Given the description of an element on the screen output the (x, y) to click on. 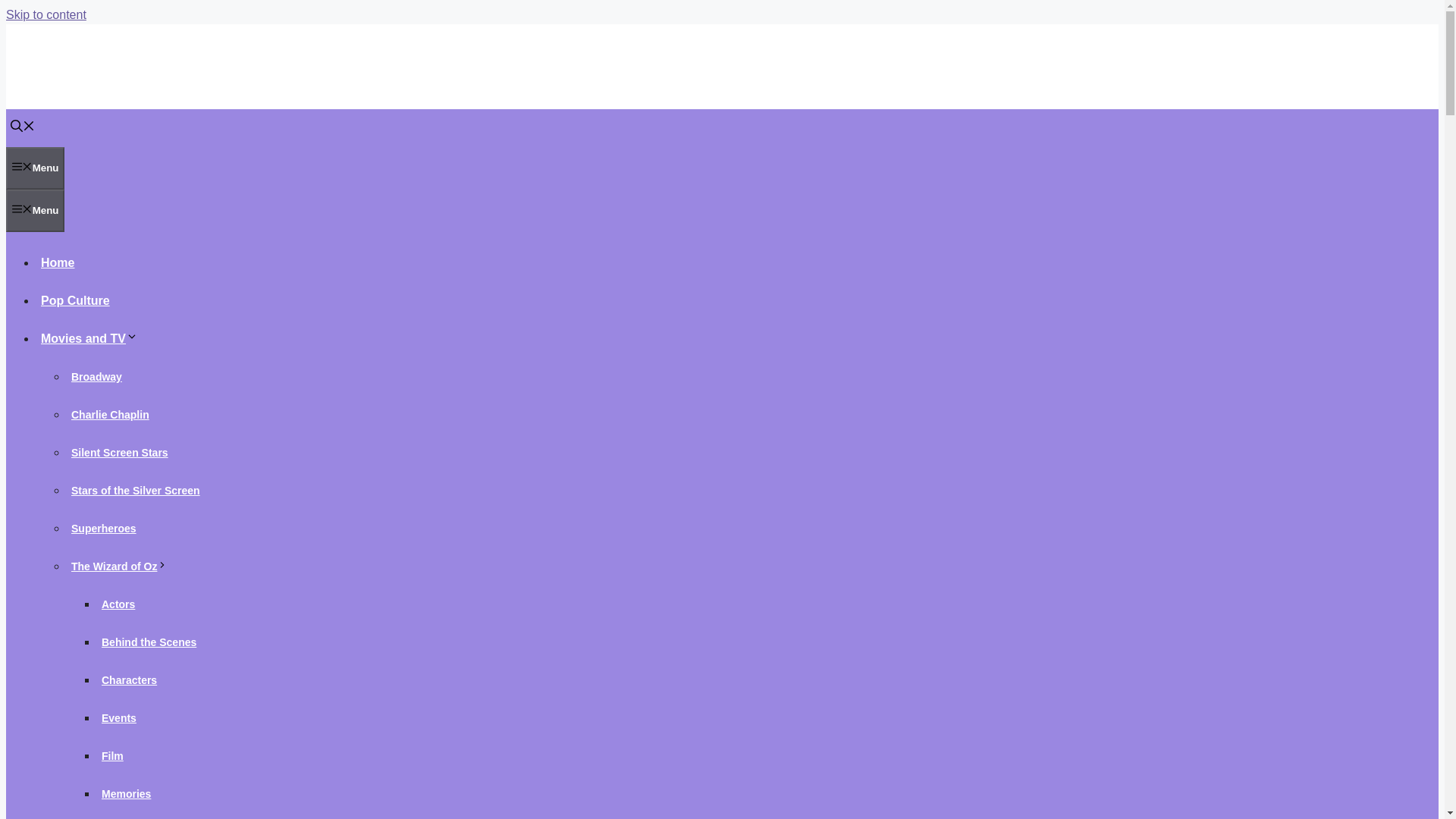
Menu (34, 168)
Actors (118, 604)
Broadway (96, 376)
Charlie Chaplin (110, 414)
Skip to content (45, 14)
Stars of the Silver Screen (135, 490)
Home (57, 262)
The Wizard of Oz (121, 565)
Superheroes (103, 528)
Skip to content (45, 14)
Memories (126, 793)
Silent Screen Stars (119, 452)
Characters (129, 679)
Menu (34, 210)
